Given the description of an element on the screen output the (x, y) to click on. 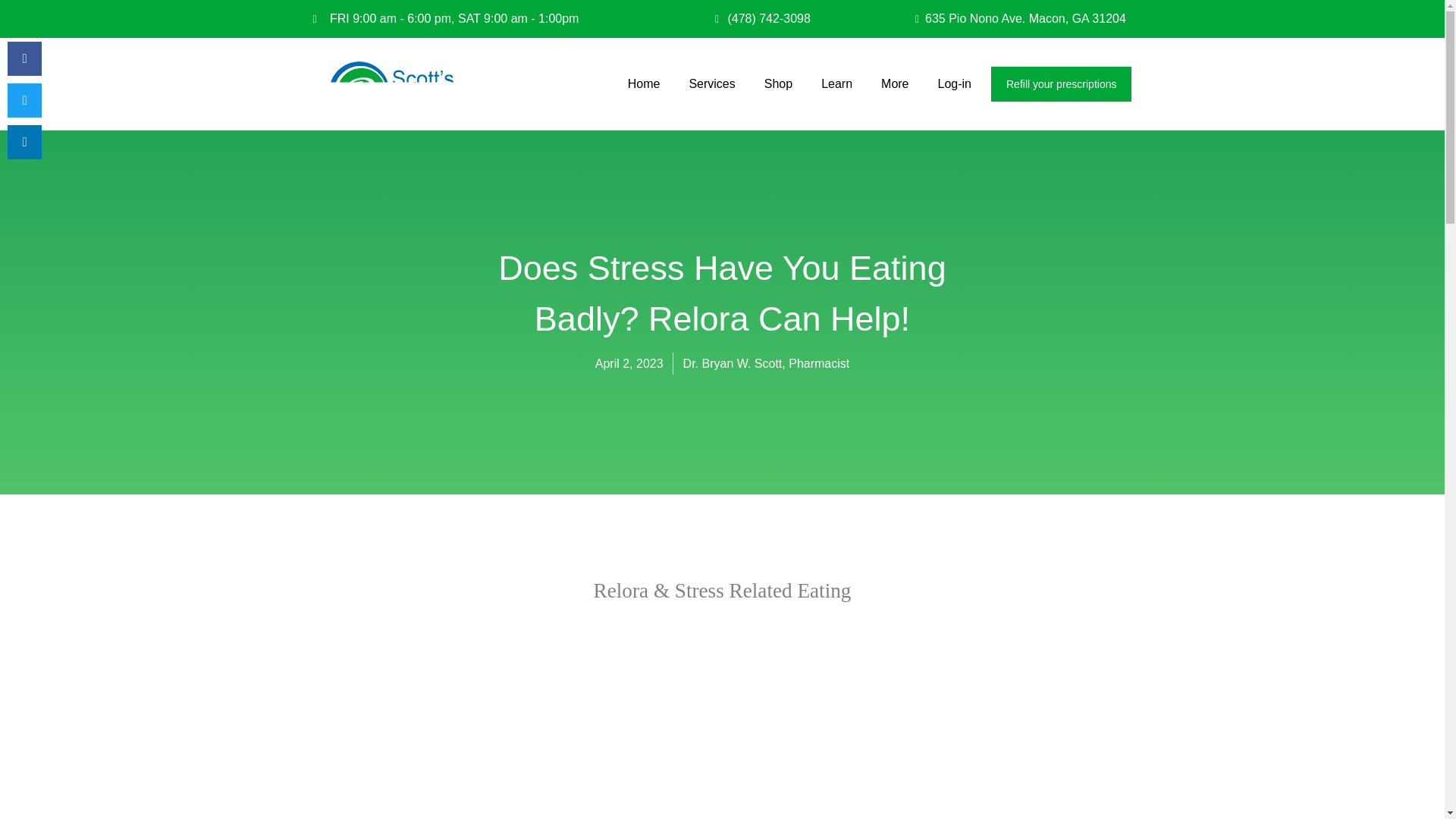
Refill your prescriptions (1061, 83)
More (894, 83)
Services (711, 83)
Log-in (953, 83)
Learn (836, 83)
Shop (778, 83)
Home (643, 83)
635 Pio Nono Ave. Macon, GA 31204 (1002, 18)
